Given the description of an element on the screen output the (x, y) to click on. 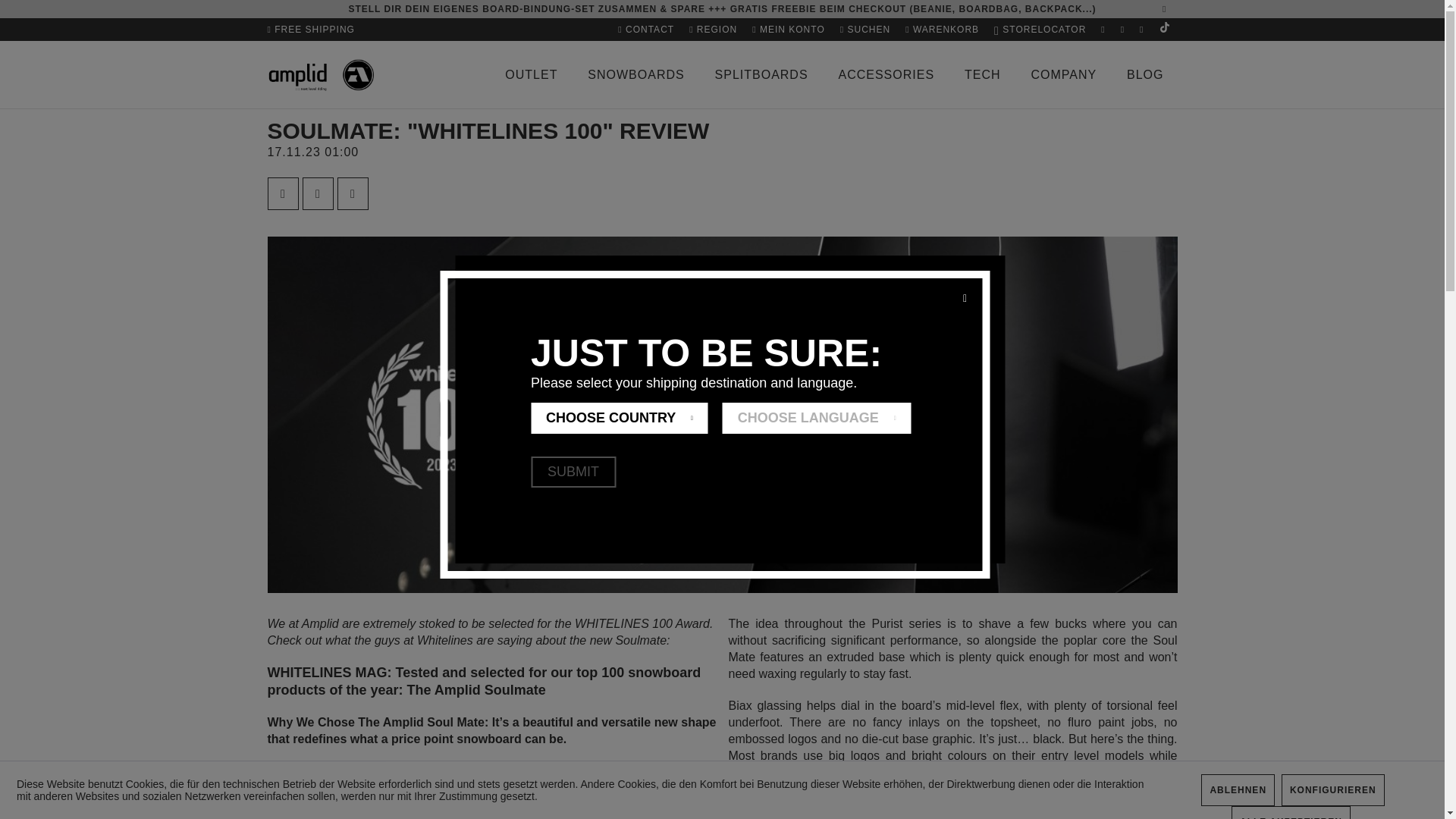
SNOWBOARDS (635, 74)
SPLITBOARDS (761, 74)
WARENKORB (942, 29)
OUTLET (531, 74)
BLOG (1144, 74)
SUBMIT (573, 471)
ACCESSORIES (885, 74)
SUCHEN (865, 29)
TikTok (1163, 29)
Storelocator (1040, 29)
MEIN KONTO (788, 29)
Amplid - zur Startseite wechseln (320, 75)
Region (712, 29)
Contact (645, 29)
FREE SHIPPING (313, 29)
